Given the description of an element on the screen output the (x, y) to click on. 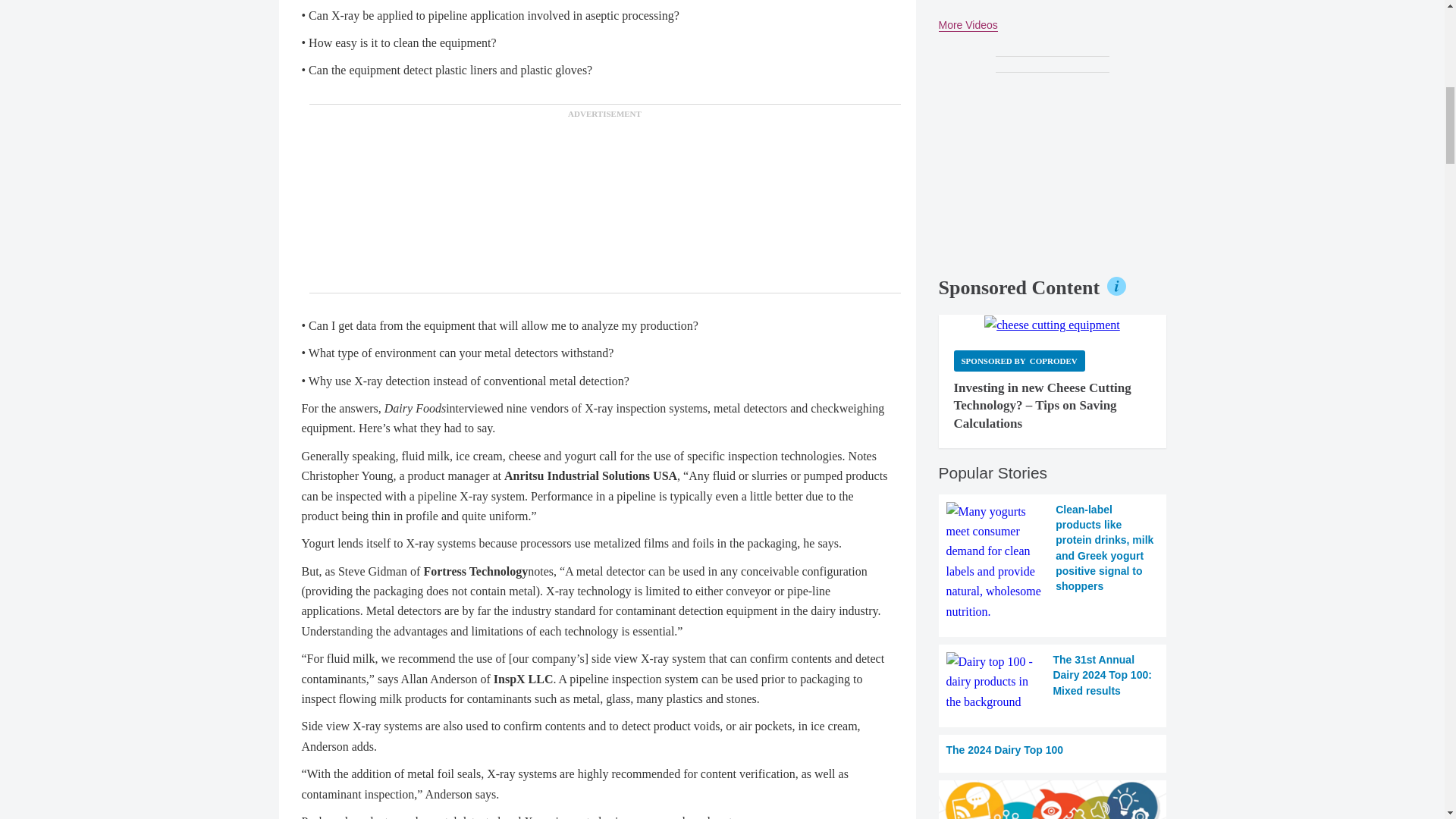
cheese cutting equipment (1051, 324)
The 2024 Dairy Top 100 (1052, 749)
Sponsored by CoProDev (1018, 360)
The 31st Annual Dairy 2024 Top 100: Mixed results (1052, 681)
